Given the description of an element on the screen output the (x, y) to click on. 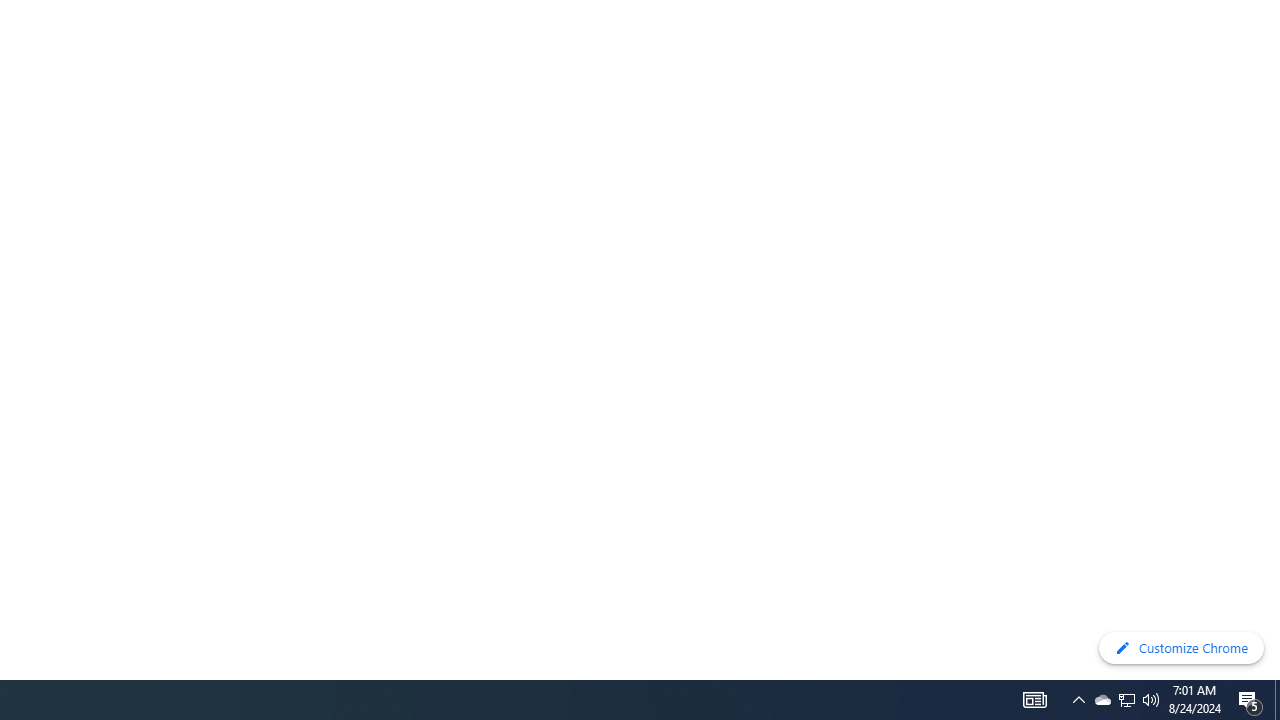
Customize Chrome (1181, 647)
